Given the description of an element on the screen output the (x, y) to click on. 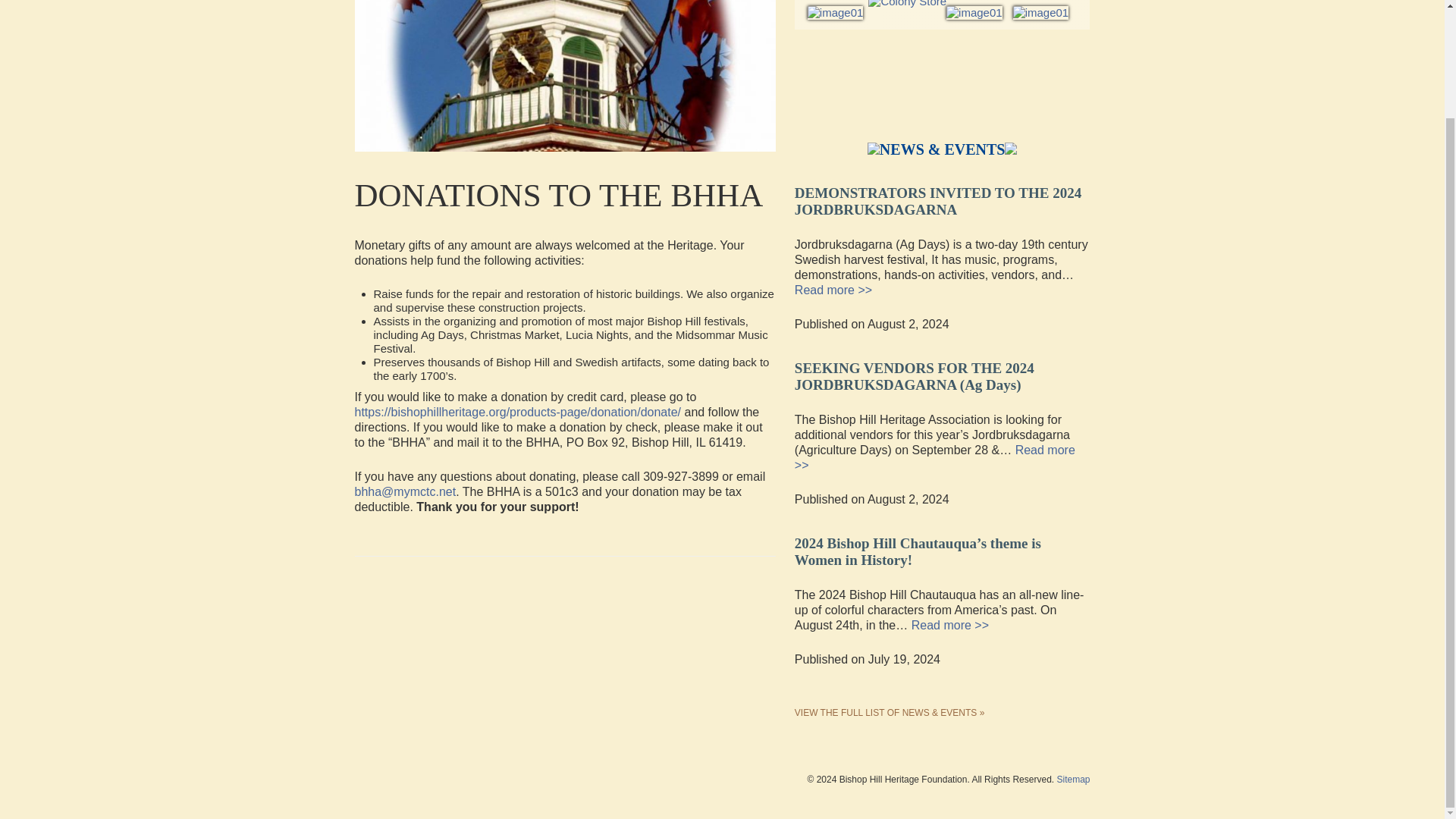
DEMONSTRATORS INVITED TO THE 2024 JORDBRUKSDAGARNA (937, 196)
